Given the description of an element on the screen output the (x, y) to click on. 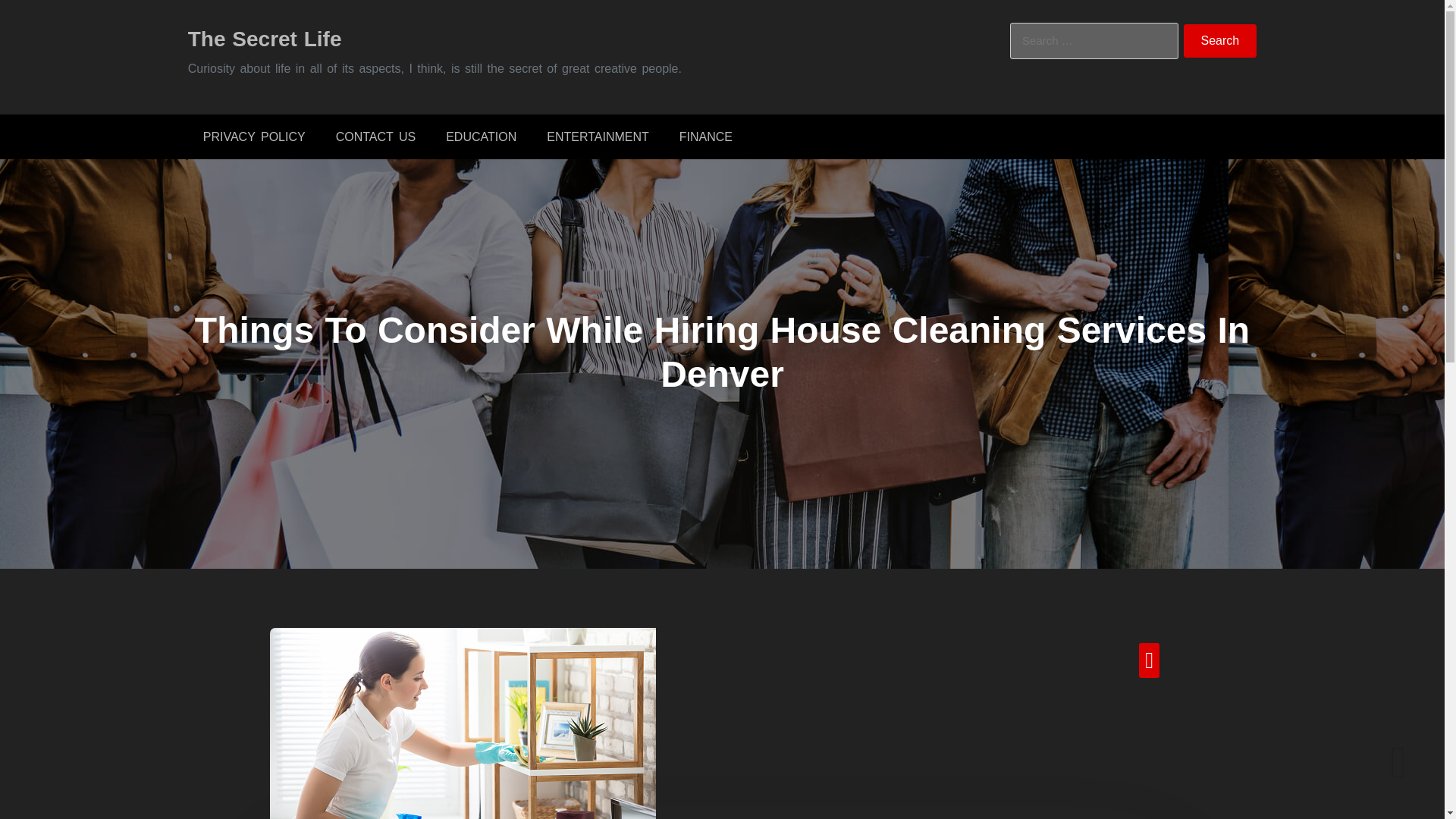
Search (1220, 40)
ENTERTAINMENT (597, 136)
The Secret Life (264, 38)
Search (1220, 40)
PRIVACY POLICY (253, 136)
FINANCE (705, 136)
EDUCATION (480, 136)
CONTACT US (375, 136)
Search (1220, 40)
